Given the description of an element on the screen output the (x, y) to click on. 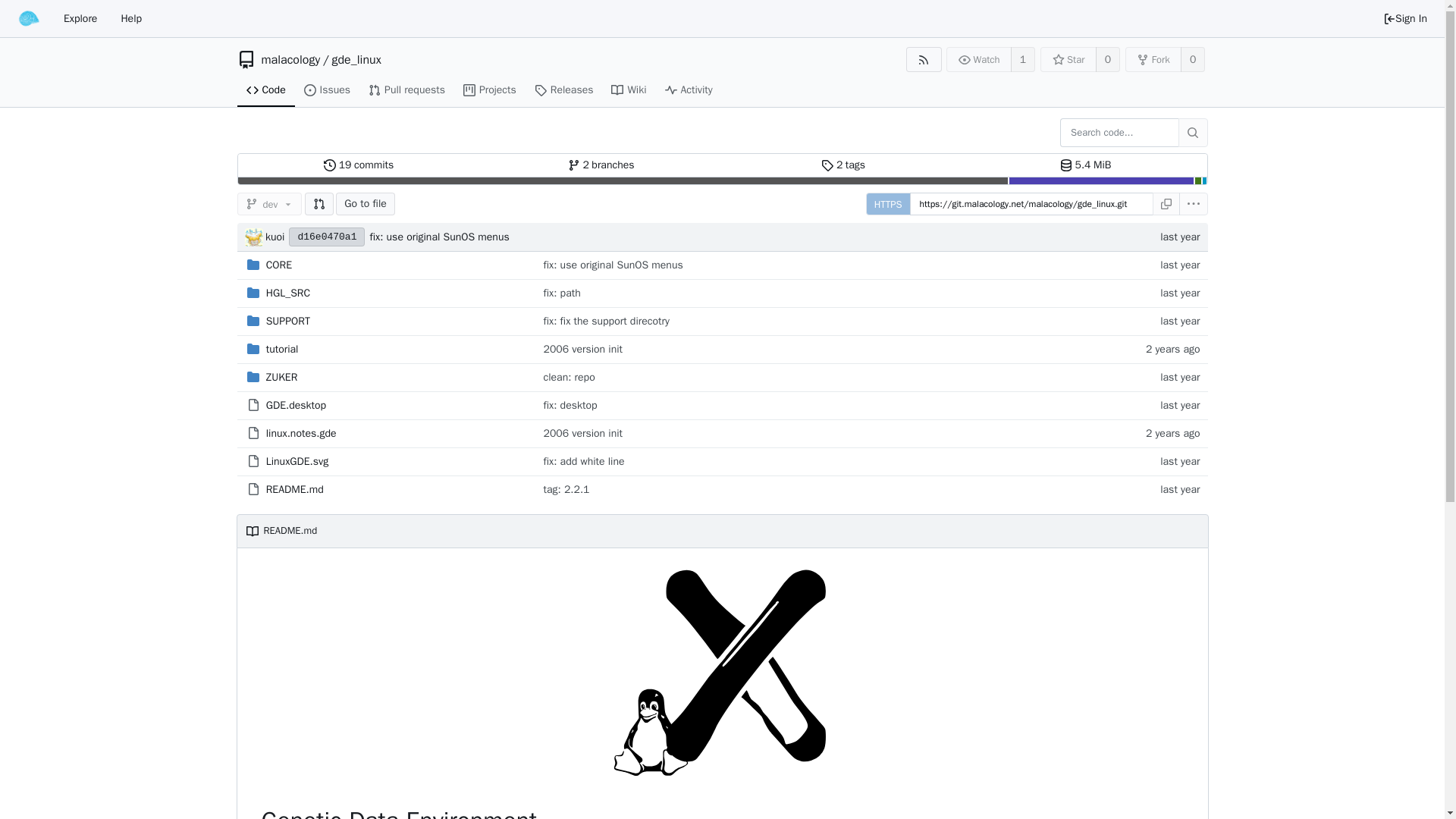
Pull requests (406, 91)
Fork (1153, 59)
Projects (489, 91)
Watch (978, 59)
Help (359, 164)
Explore (130, 17)
Issues (79, 17)
0 (327, 91)
tutorial (1107, 59)
malacology (601, 164)
Code (282, 348)
ZUKER (290, 59)
GDE.desktop (264, 91)
